Given the description of an element on the screen output the (x, y) to click on. 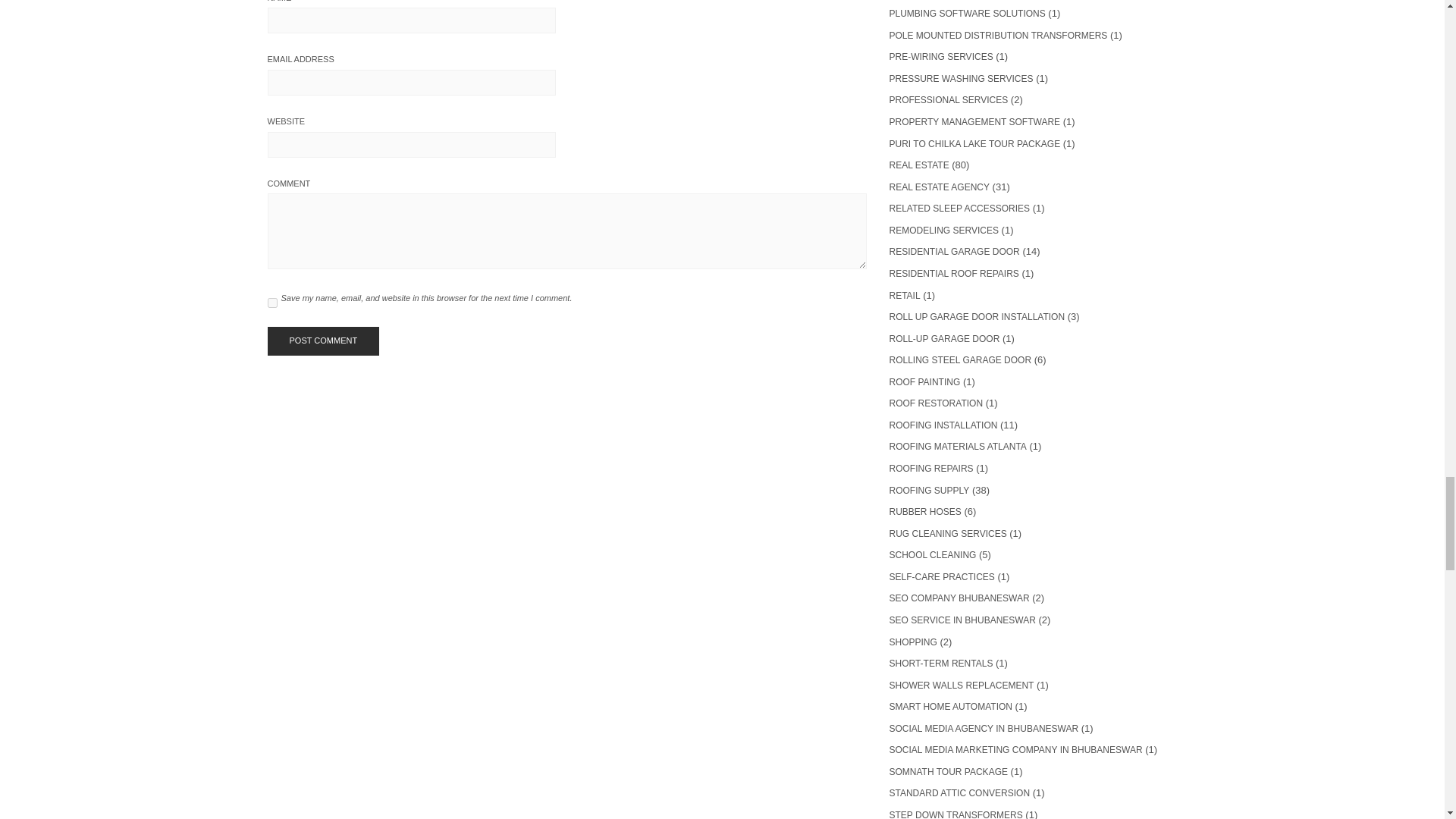
yes (271, 302)
Post Comment (322, 340)
Post Comment (322, 340)
